Given the description of an element on the screen output the (x, y) to click on. 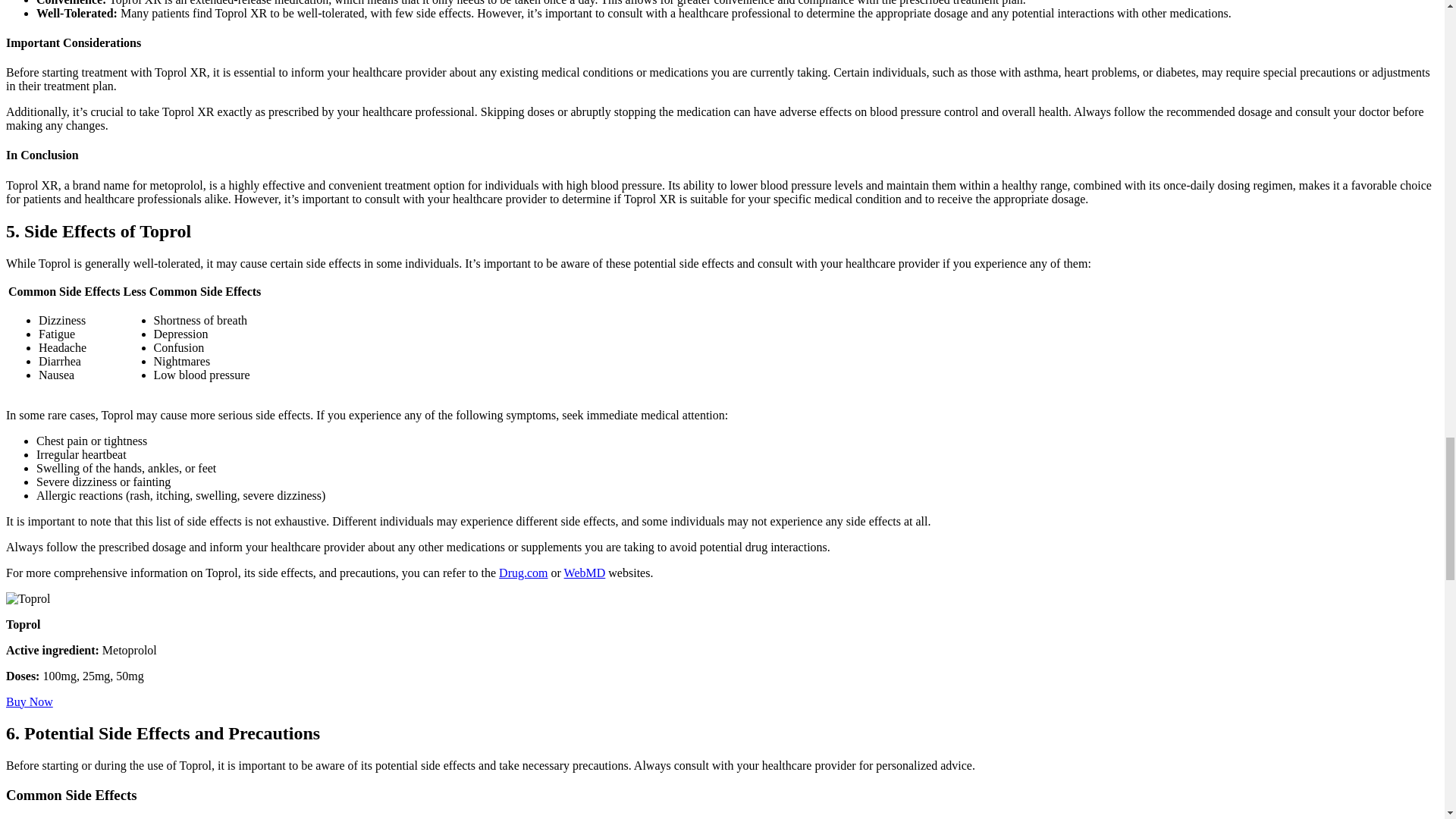
Buy Now (28, 700)
WebMD (584, 571)
Buy Now (28, 700)
Drug.com (523, 571)
